Given the description of an element on the screen output the (x, y) to click on. 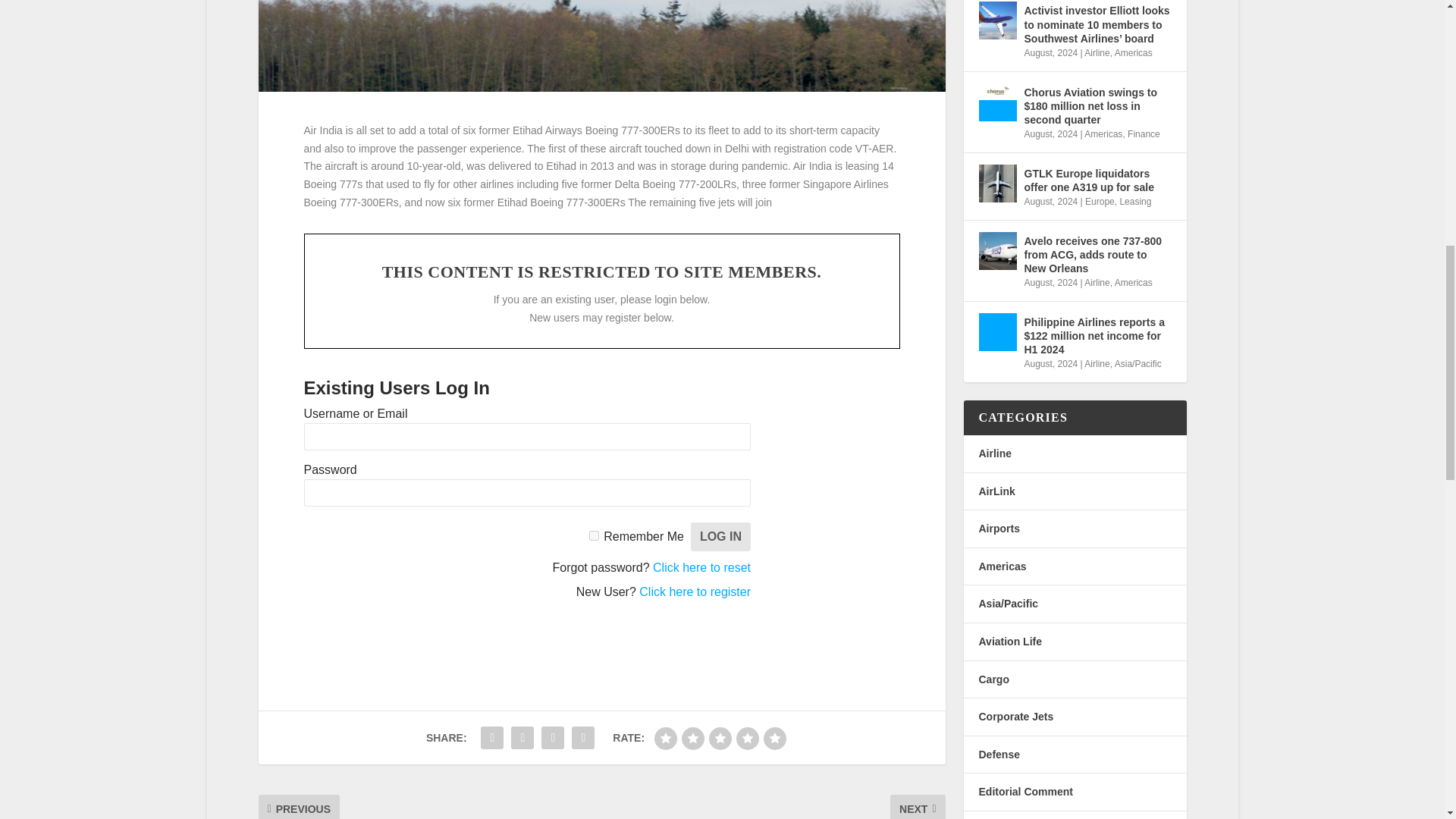
bad (665, 738)
poor (692, 738)
forever (593, 535)
good (747, 738)
regular (720, 738)
gorgeous (774, 738)
Log In (720, 536)
